Given the description of an element on the screen output the (x, y) to click on. 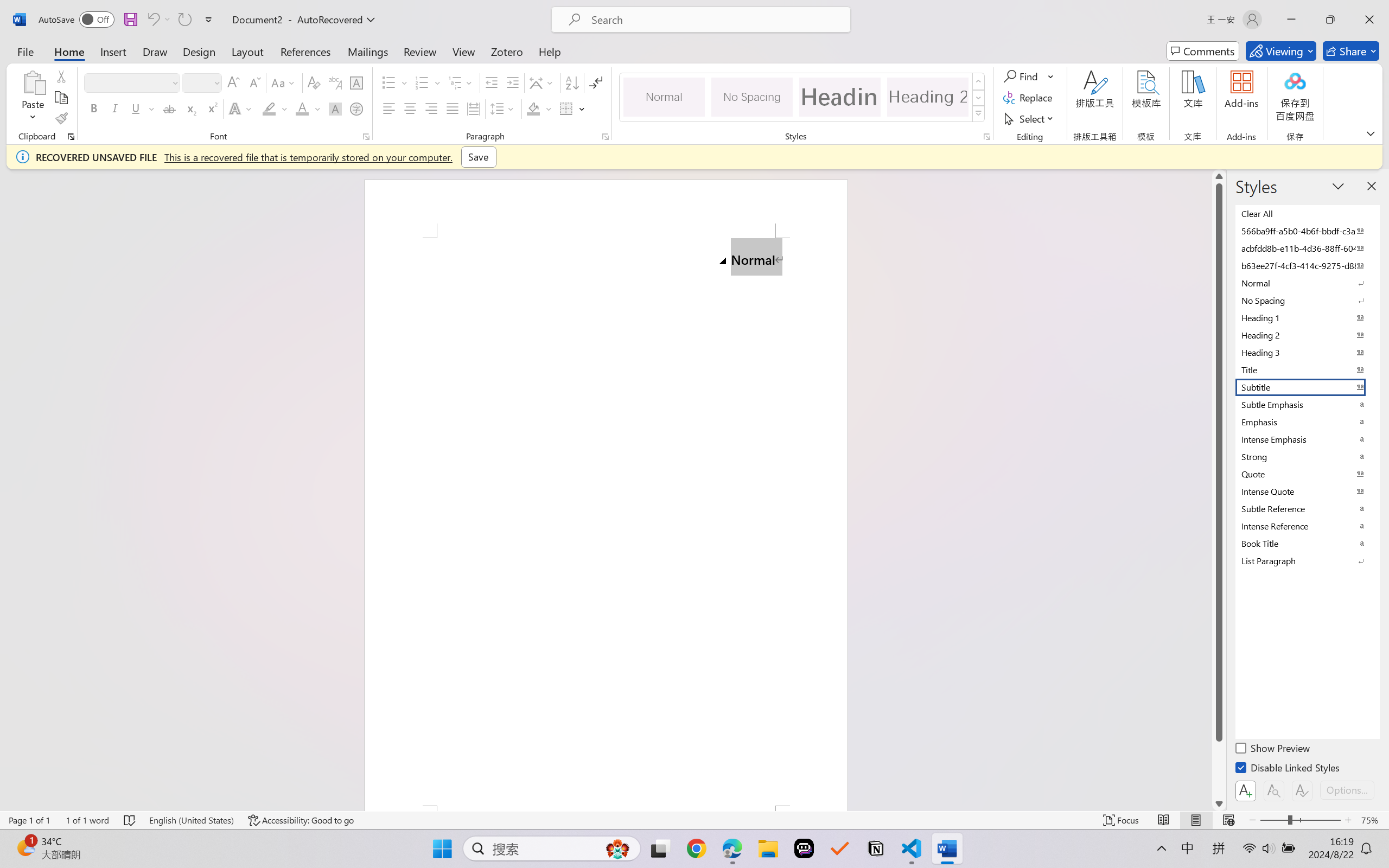
Subscript (190, 108)
Disable Linked Styles (1287, 769)
Zoom 75% (1372, 819)
Asian Layout (542, 82)
List Paragraph (1306, 560)
Clear All (1306, 213)
Text Effects and Typography (241, 108)
Paragraph... (605, 136)
